Given the description of an element on the screen output the (x, y) to click on. 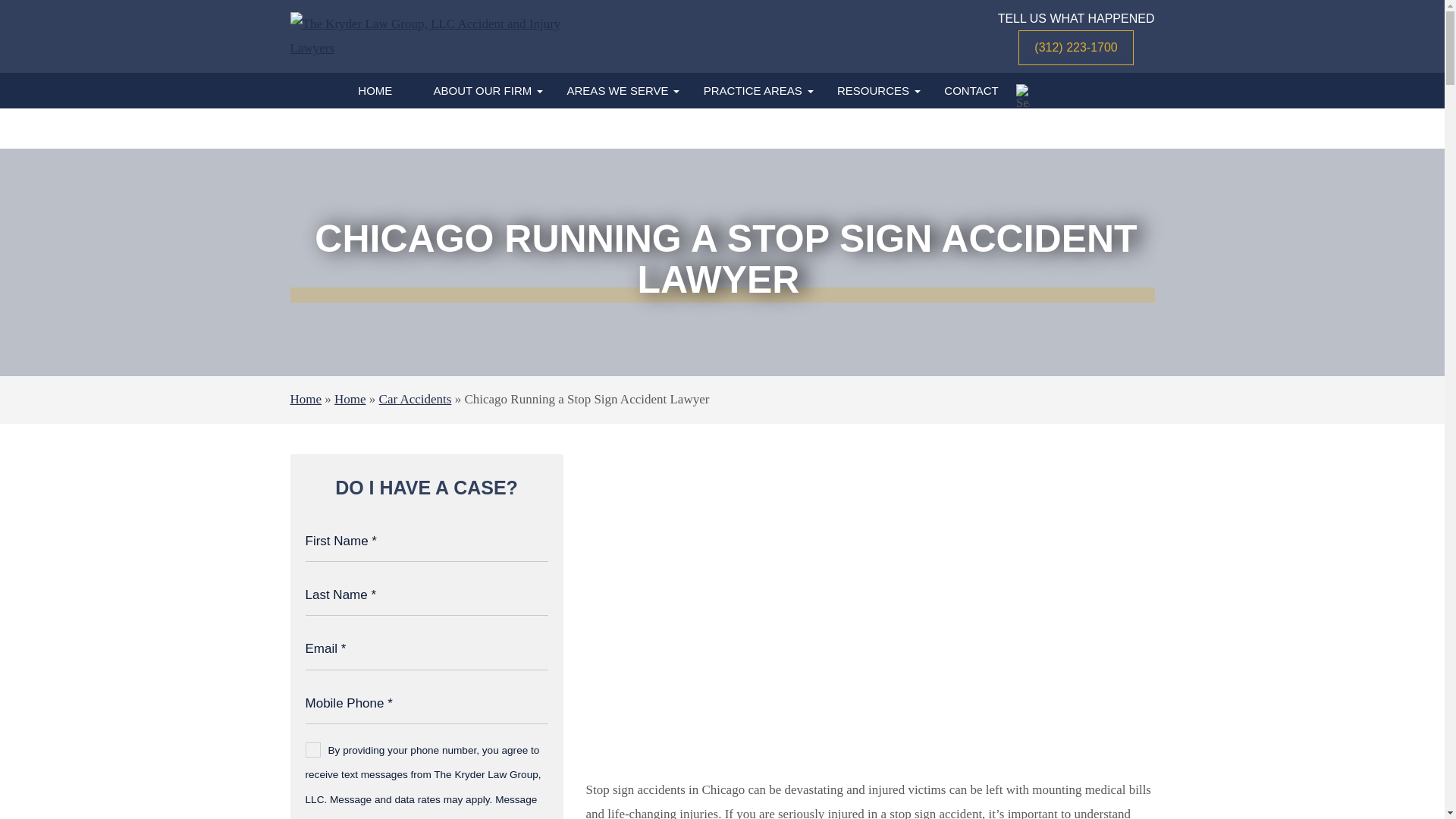
HOME (374, 90)
AREAS WE SERVE (617, 90)
ABOUT OUR FIRM (482, 90)
